Given the description of an element on the screen output the (x, y) to click on. 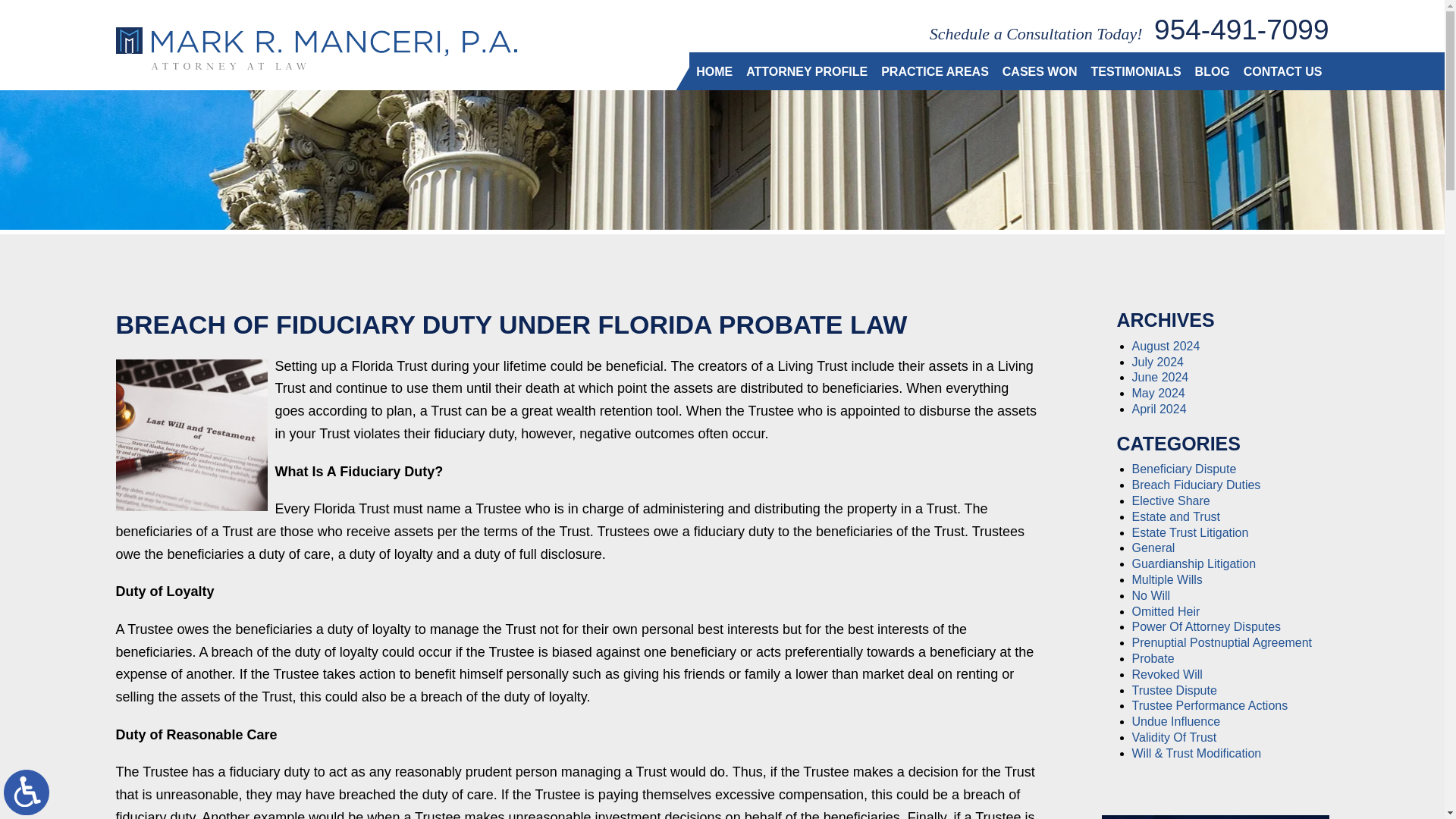
CASES WON (1039, 71)
ATTORNEY PROFILE (807, 71)
TESTIMONIALS (1135, 71)
954-491-7099 (1240, 29)
Will5 (190, 435)
August 2024 (1165, 345)
PRACTICE AREAS (935, 71)
BLOG (1212, 71)
Switch to ADA Accessible Theme (26, 791)
CONTACT US (1282, 71)
HOME (713, 71)
